Given the description of an element on the screen output the (x, y) to click on. 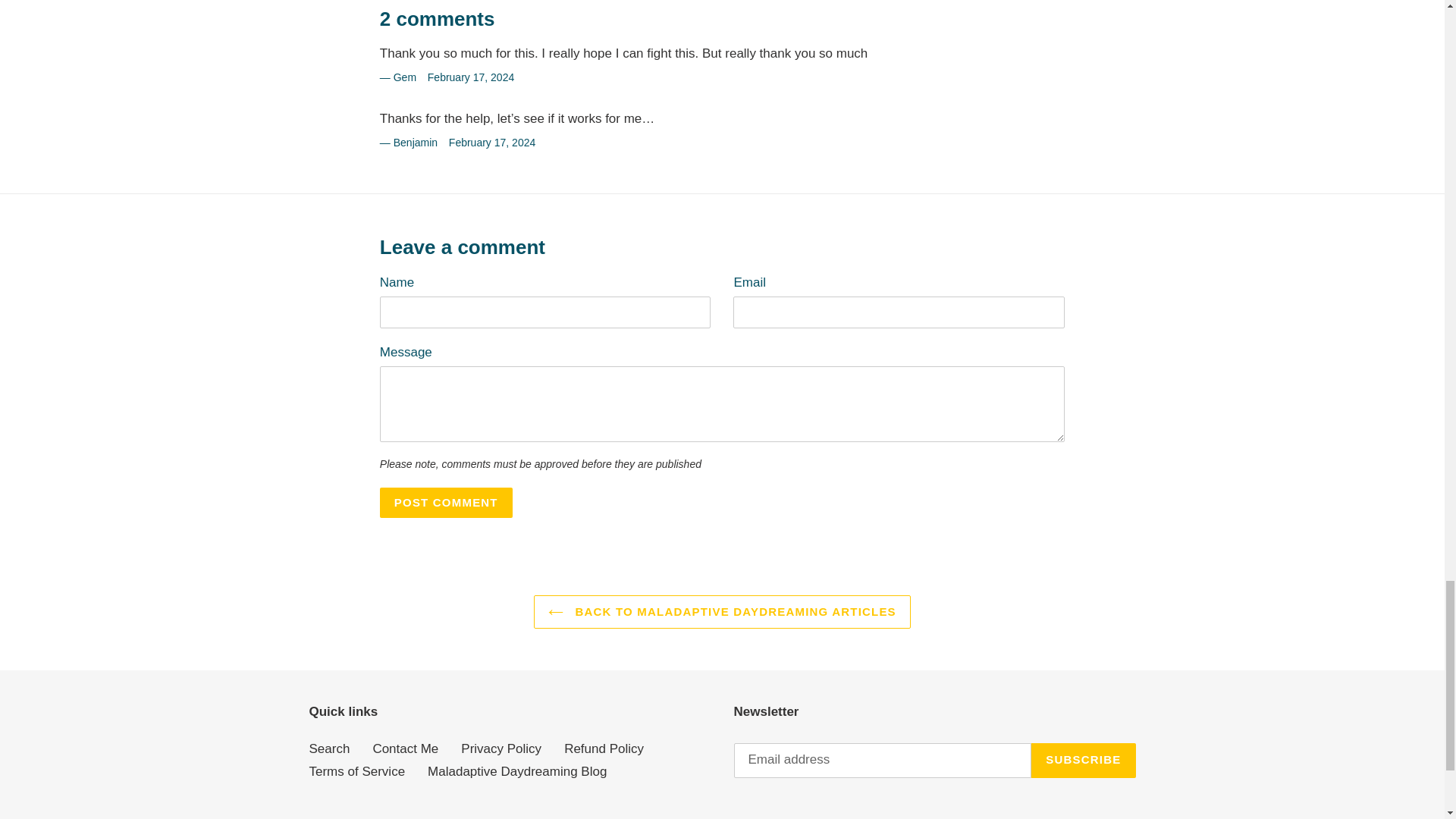
Terms of Service (357, 771)
Search (329, 748)
Privacy Policy (501, 748)
SUBSCRIBE (1082, 760)
Post comment (446, 502)
Refund Policy (603, 748)
BACK TO MALADAPTIVE DAYDREAMING ARTICLES (722, 612)
Maladaptive Daydreaming Blog (517, 771)
Contact Me (405, 748)
Post comment (446, 502)
